Given the description of an element on the screen output the (x, y) to click on. 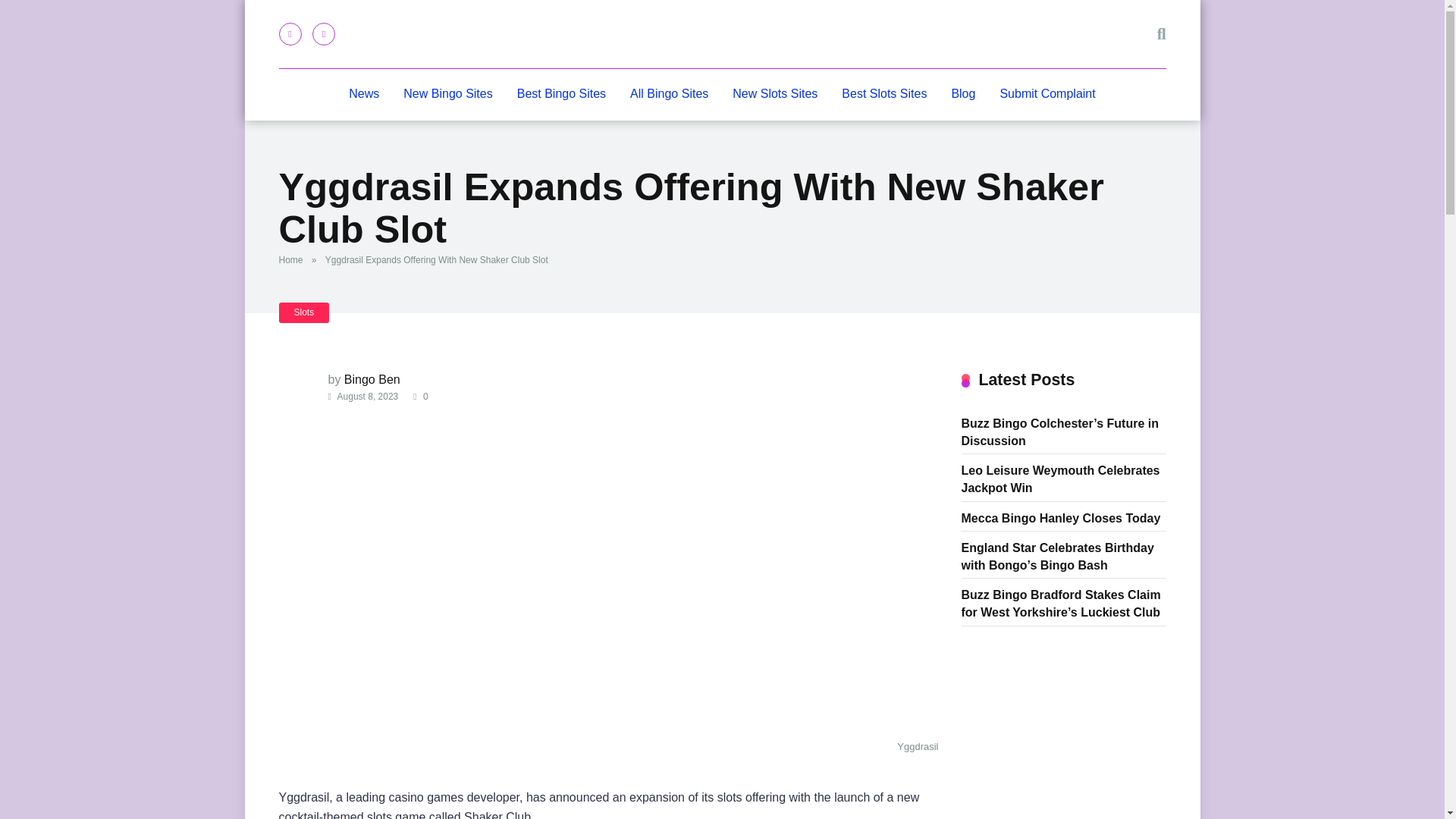
News (363, 94)
New Bingo Sites (447, 94)
Submit Complaint (1046, 94)
Mecca Bingo Hanley Closes Today (1060, 517)
Leo Leisure Weymouth Celebrates Jackpot Win (1060, 477)
Bingo Ben (371, 379)
Blog (963, 94)
BingoDaily (721, 33)
Twitter (323, 33)
All Bingo Sites (668, 94)
